Given the description of an element on the screen output the (x, y) to click on. 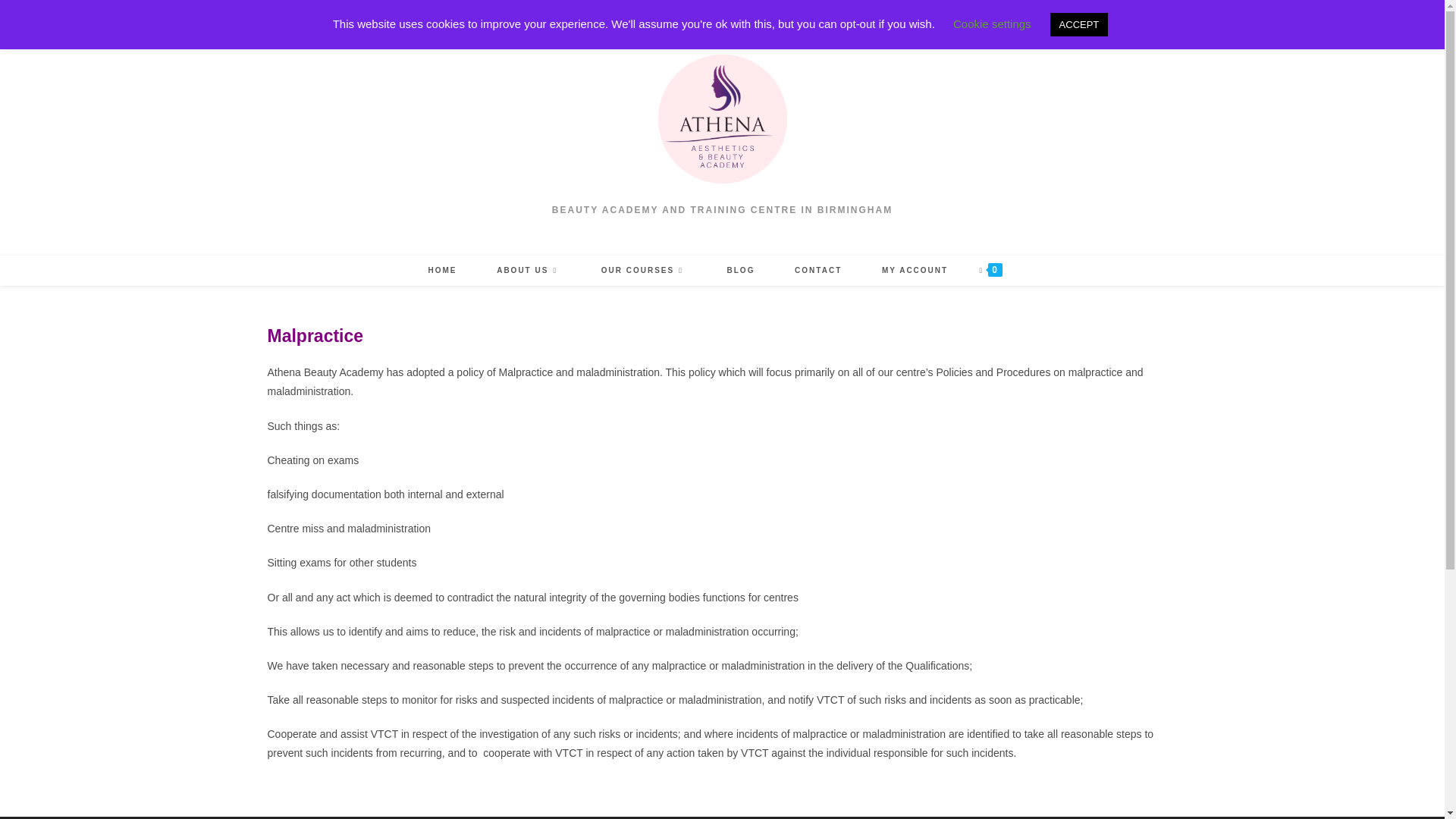
0 (990, 270)
BLOG (740, 270)
OUR COURSES (643, 270)
ABOUT US (528, 270)
HOME (442, 270)
CONTACT (817, 270)
MY ACCOUNT (914, 270)
